Given the description of an element on the screen output the (x, y) to click on. 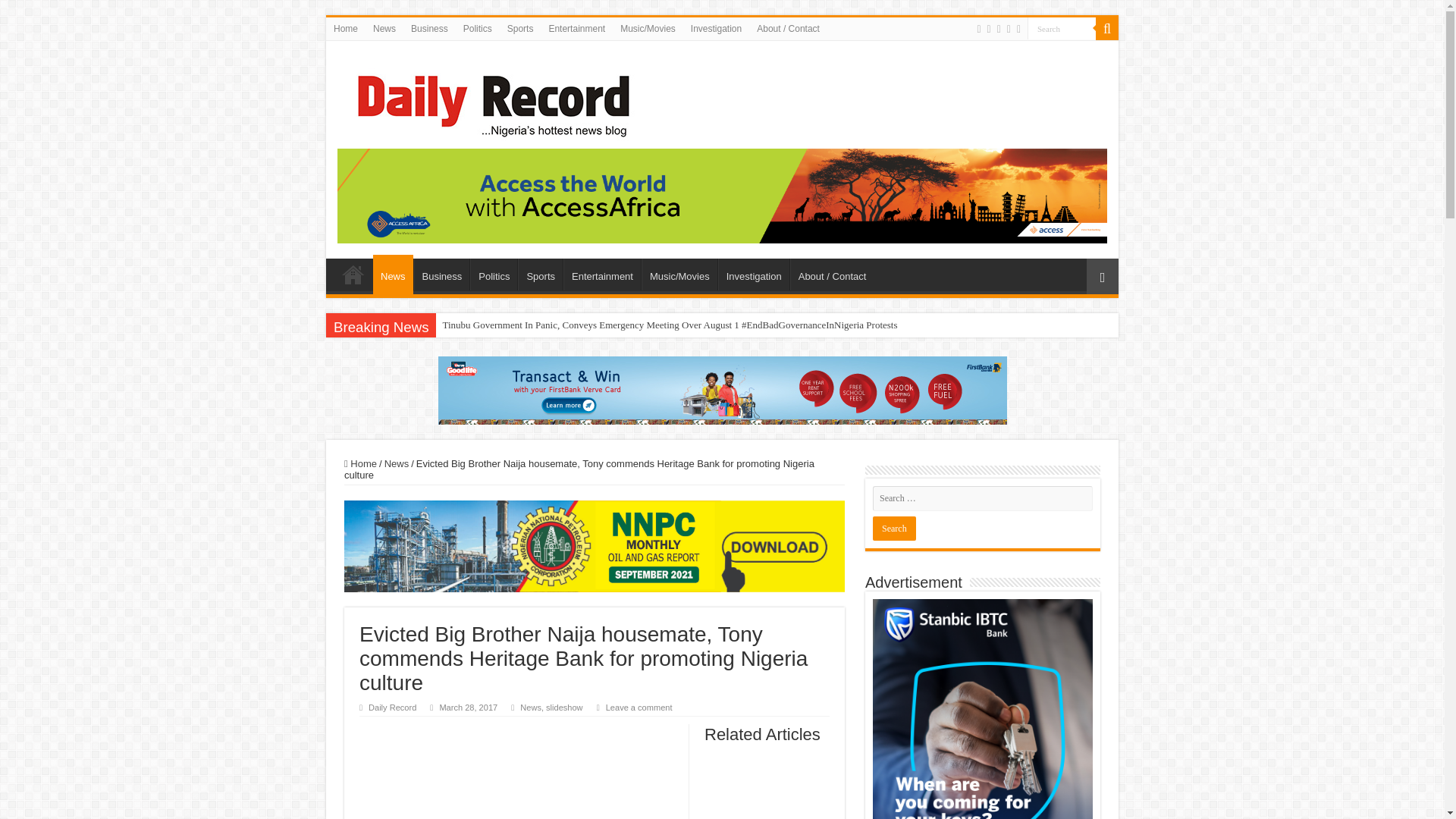
Search (1061, 28)
Search (893, 528)
Home (352, 274)
Search (1107, 28)
Entertainment (576, 28)
Business (429, 28)
News (384, 28)
Entertainment (601, 274)
Home (345, 28)
Access Bank (721, 194)
Search (1061, 28)
Investigation (715, 28)
Search (893, 528)
Search (1061, 28)
Business (441, 274)
